Given the description of an element on the screen output the (x, y) to click on. 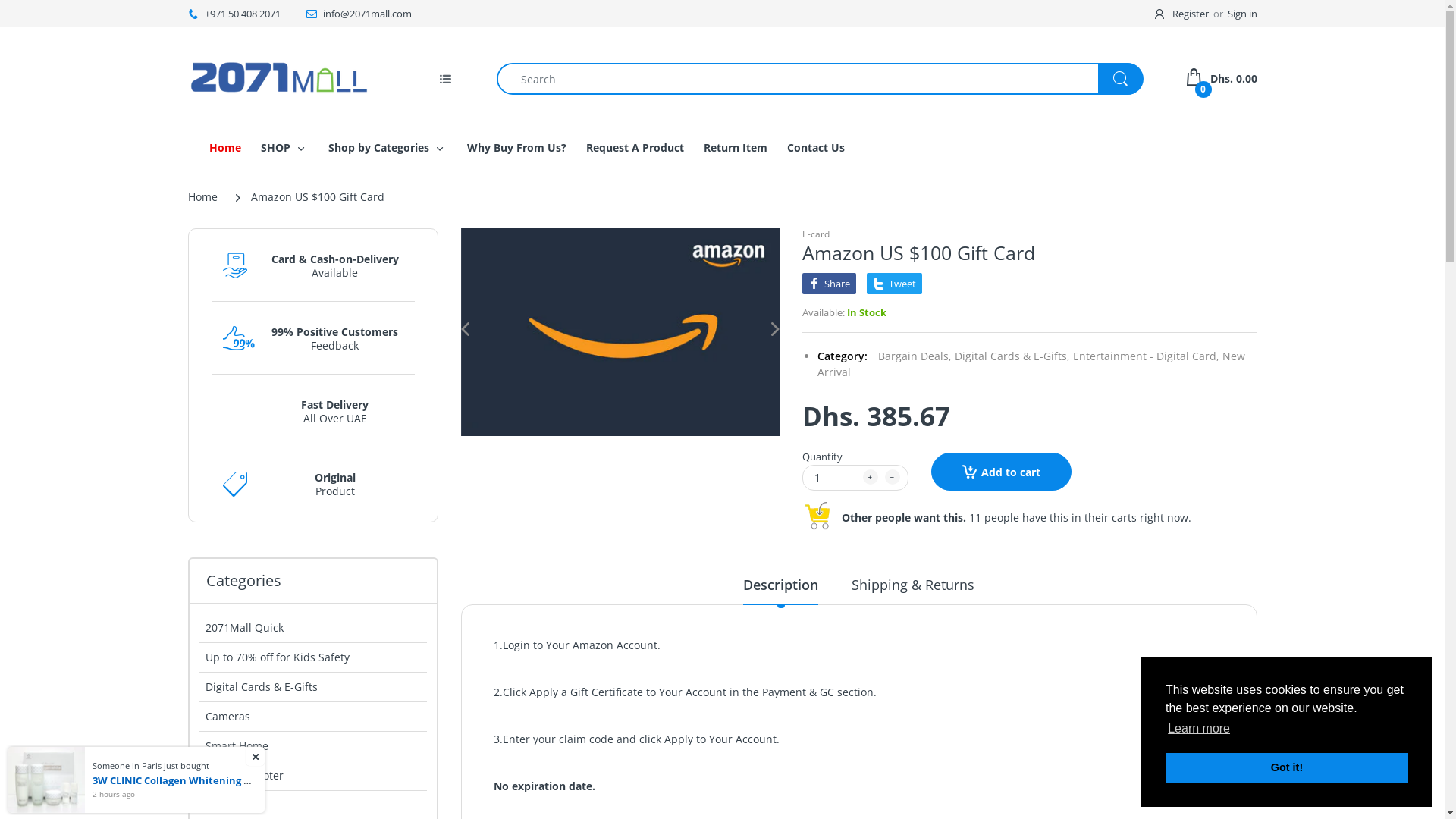
New Arrival Element type: text (1031, 363)
Return Item Element type: text (735, 147)
Add to cart Element type: text (1001, 471)
Description Element type: text (780, 590)
3W CLINIC Collagen Whitening Skincare Set Element type: text (198, 780)
Share Element type: text (829, 283)
Bargain Deals, Element type: text (914, 355)
Why Buy From Us? Element type: text (516, 147)
Entertainment - Digital Card, Element type: text (1145, 355)
Tweet Element type: text (893, 283)
Smart Home Element type: text (312, 745)
Digital Cards & E-Gifts, Element type: text (1011, 355)
Got it! Element type: text (1286, 767)
Register Element type: text (1182, 13)
Shop by Categories Element type: text (377, 147)
Close Element type: hover (254, 755)
SHOP Element type: text (275, 147)
Electric Scooter Element type: text (312, 775)
Cameras Element type: text (312, 716)
0
Dhs. 0.00 Element type: text (1221, 78)
Xiaomi Element type: text (312, 804)
E-card Element type: text (815, 233)
3W CLINIC Collagen Whitening Skincare Set - 2071MALL Element type: hover (46, 778)
Increase Element type: hover (870, 476)
Decrease Element type: hover (891, 476)
Request A Product Element type: text (634, 147)
Home Element type: text (202, 196)
Learn more Element type: text (1198, 728)
Digital Cards & E-Gifts Element type: text (312, 686)
Sign in Element type: text (1241, 13)
2071Mall Quick Element type: text (312, 627)
Contact Us Element type: text (815, 147)
Shipping & Returns Element type: text (912, 590)
2071MALL Element type: hover (279, 77)
Home Element type: text (225, 147)
Up to 70% off for Kids Safety Element type: text (312, 657)
